Given the description of an element on the screen output the (x, y) to click on. 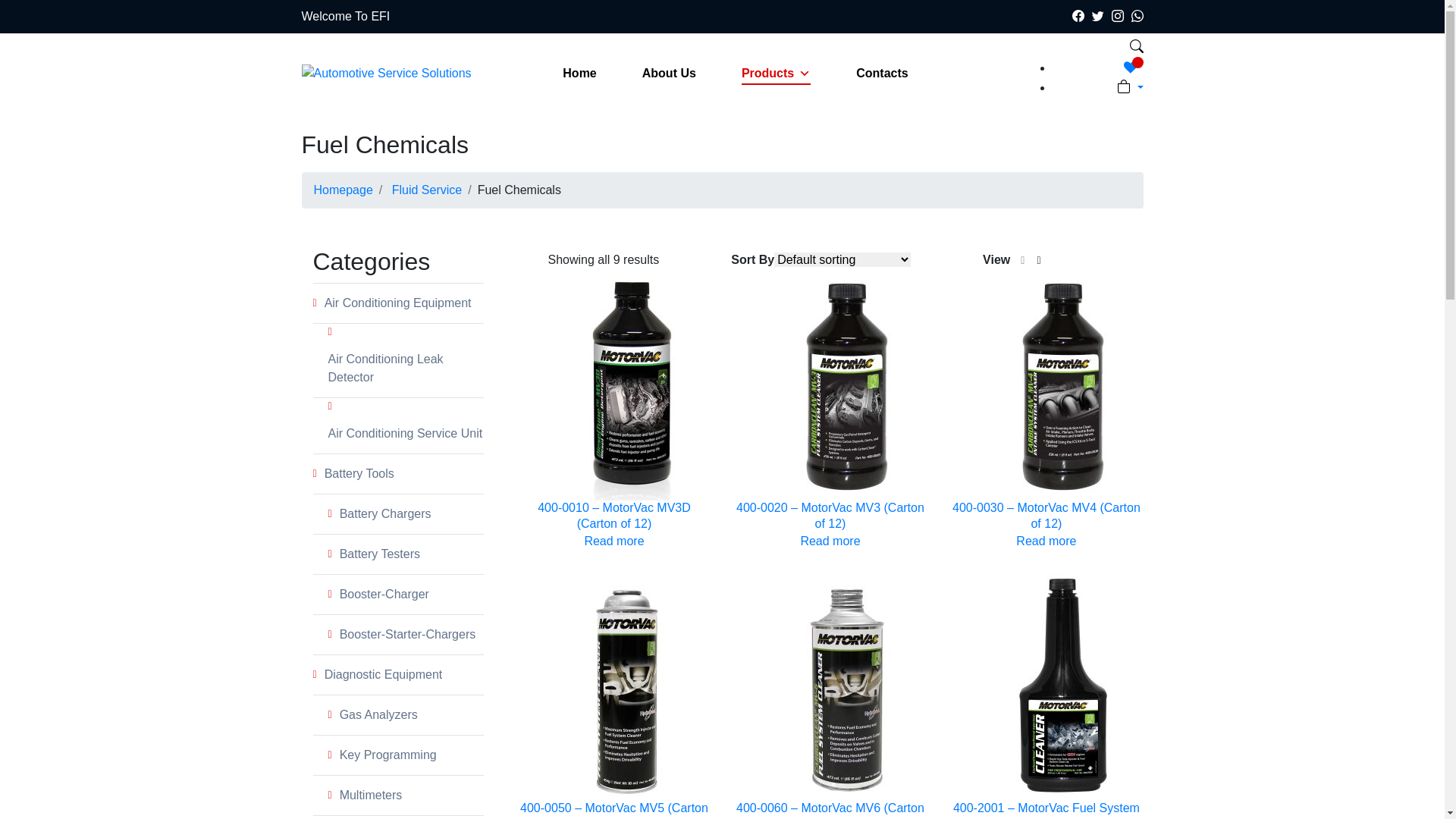
Battery Chargers Element type: text (411, 513)
Contacts Element type: text (881, 73)
Fluid Service Element type: text (426, 189)
Air Conditioning Service Unit Element type: text (405, 433)
Home Element type: text (579, 73)
Air Conditioning Leak Detector Element type: text (405, 368)
About Us Element type: text (669, 73)
Read more Element type: text (829, 540)
Products Element type: text (775, 73)
Read more Element type: text (1045, 540)
Battery Tools Element type: text (403, 473)
Read more Element type: text (613, 540)
Homepage Element type: text (343, 189)
Multimeters Element type: text (411, 795)
Gas Analyzers Element type: text (411, 714)
Booster-Charger Element type: text (411, 594)
Key Programming Element type: text (411, 755)
Booster-Starter-Chargers Element type: text (411, 634)
Air Conditioning Equipment Element type: text (403, 303)
Diagnostic Equipment Element type: text (403, 674)
Battery Testers Element type: text (411, 554)
